Given the description of an element on the screen output the (x, y) to click on. 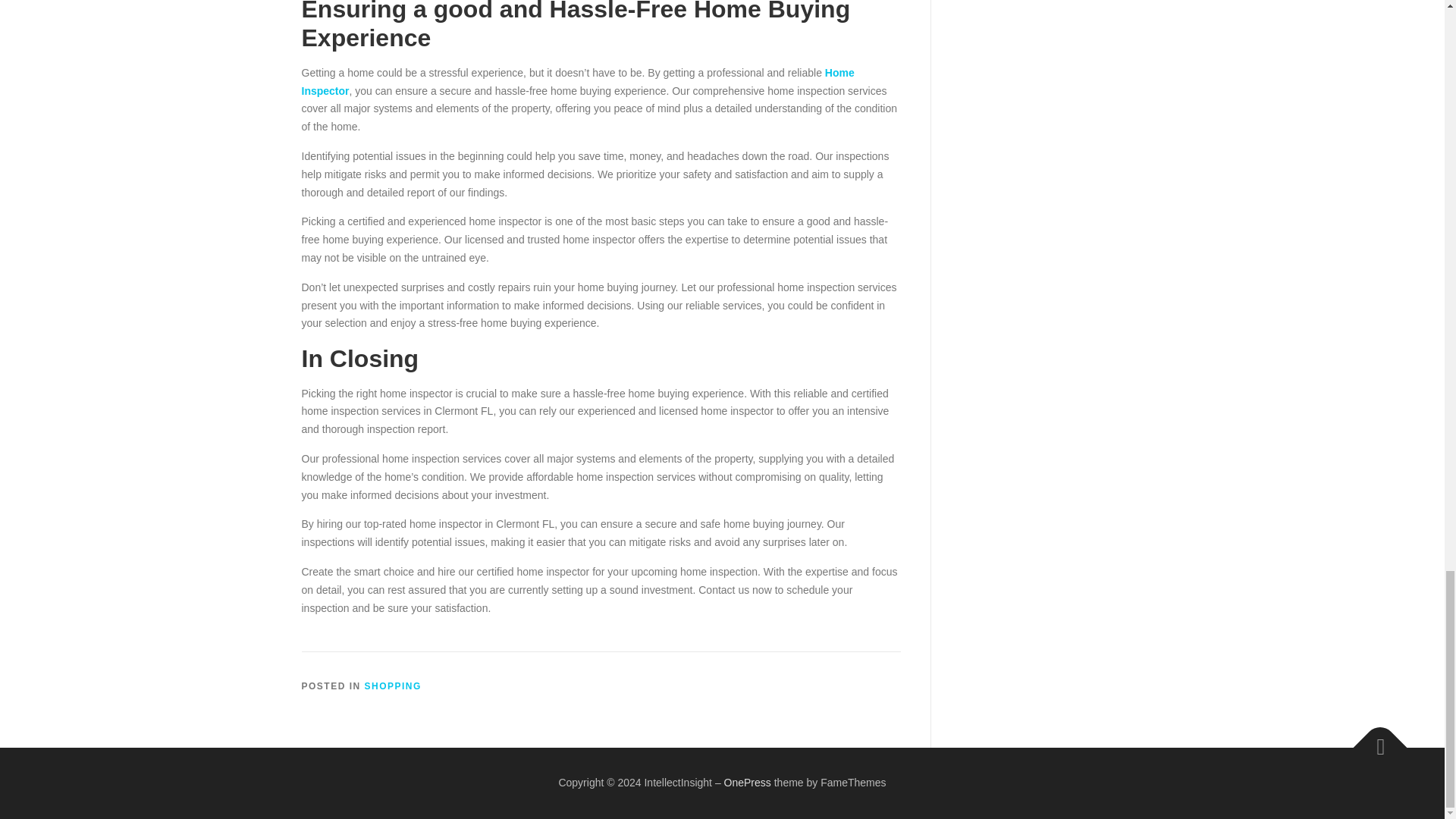
Home Inspector (577, 81)
Back To Top (1372, 739)
SHOPPING (393, 685)
